Given the description of an element on the screen output the (x, y) to click on. 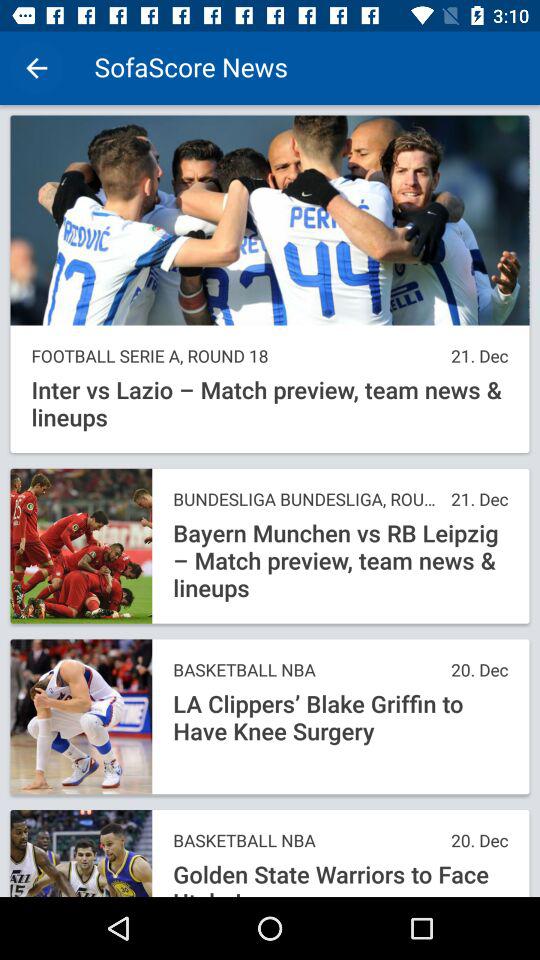
flip until the football serie a icon (235, 356)
